Given the description of an element on the screen output the (x, y) to click on. 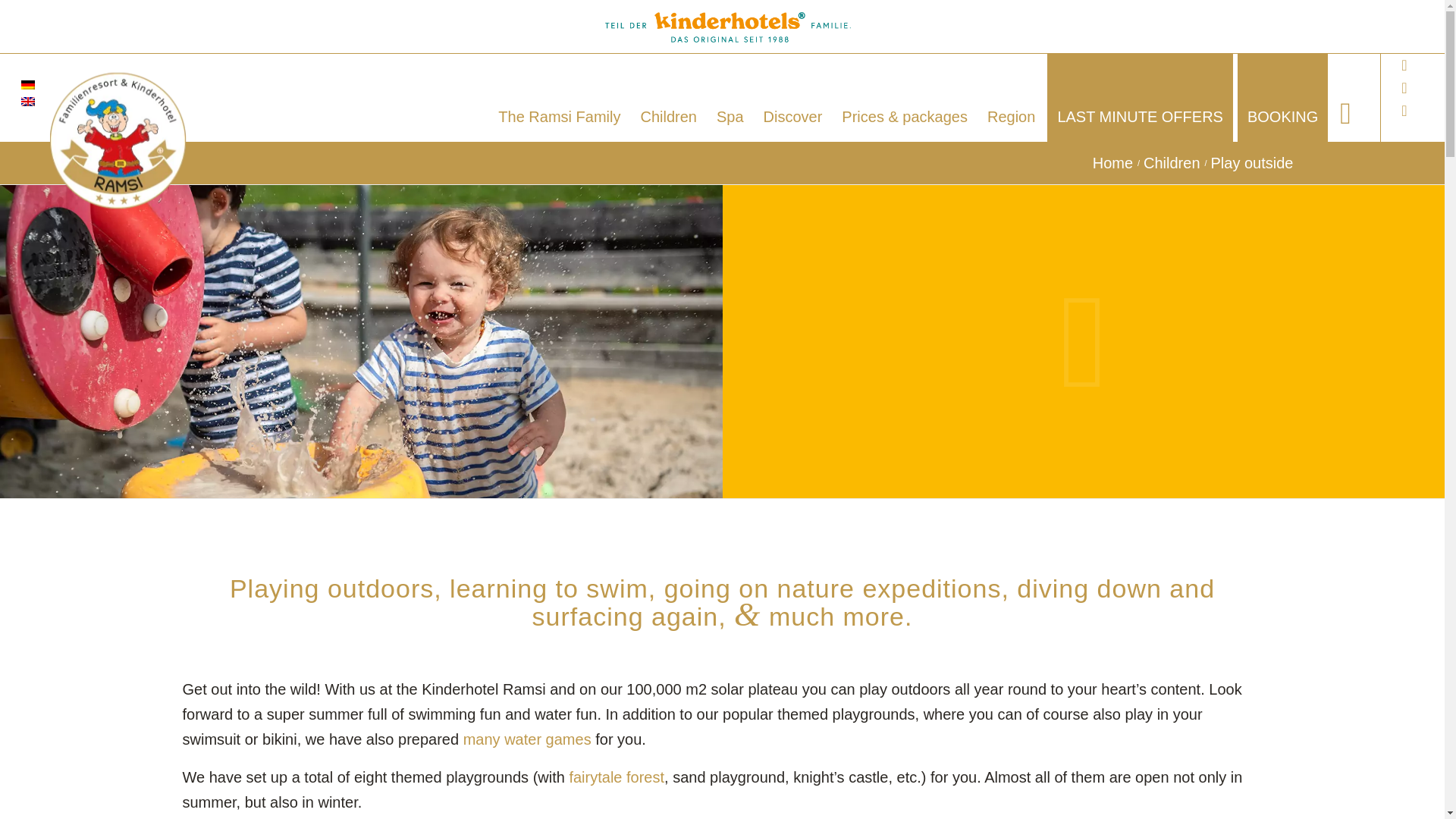
Discover (793, 97)
BOOKING (1282, 97)
Facebook (1404, 65)
The Ramsi Family (558, 97)
Children (1171, 163)
LAST MINUTE OFFERS (1139, 97)
Youtube (1404, 87)
Instagram (1404, 110)
